Given the description of an element on the screen output the (x, y) to click on. 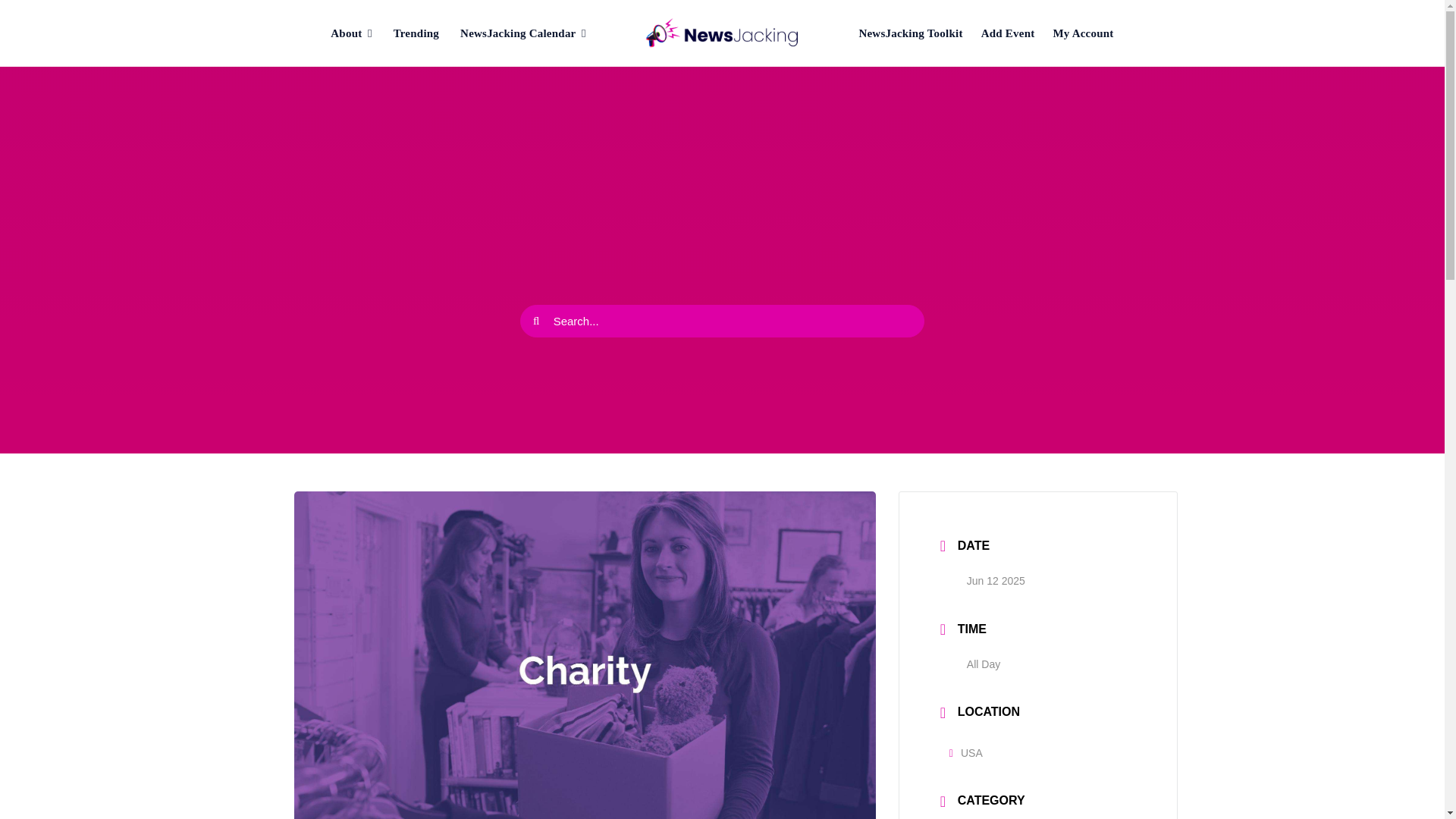
Trending (416, 33)
About (351, 33)
NewsJacking Calendar (523, 33)
